Given the description of an element on the screen output the (x, y) to click on. 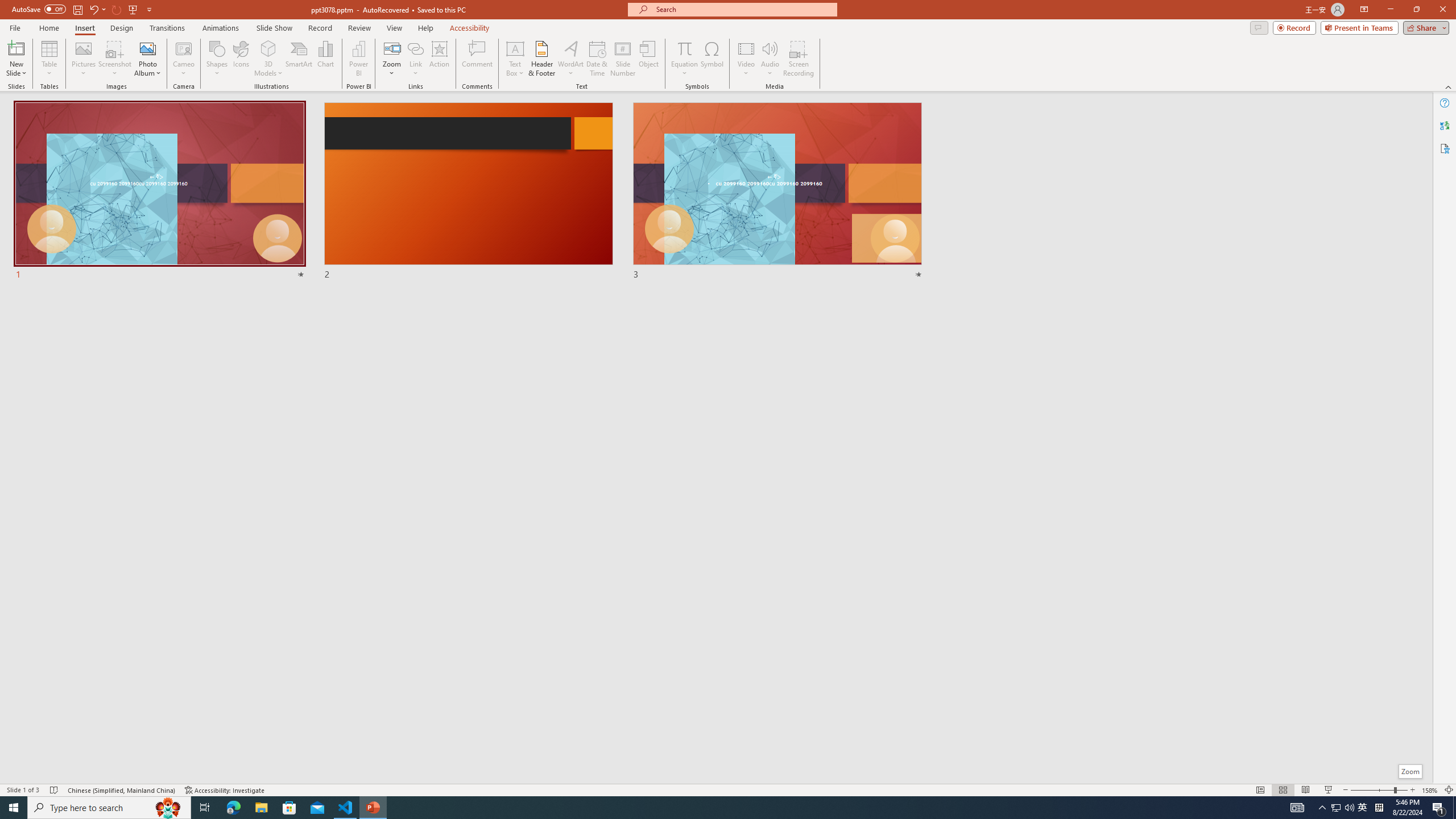
Object... (649, 58)
Icons (240, 58)
